Given the description of an element on the screen output the (x, y) to click on. 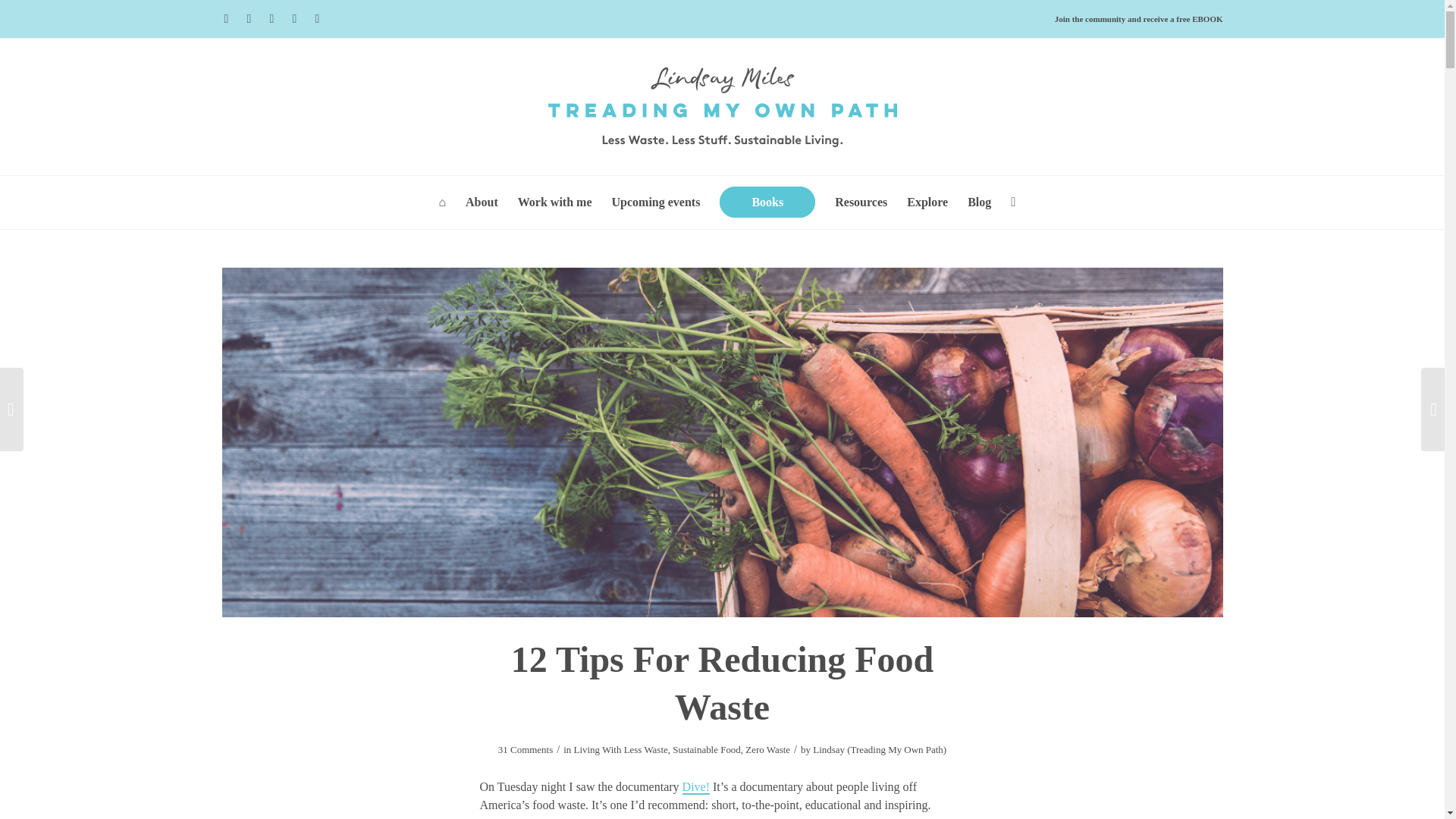
Work with me (555, 194)
Resources (860, 194)
X (226, 18)
Dive! (696, 787)
Mail (294, 18)
Treading My Own Path (722, 106)
Instagram (271, 18)
Upcoming events (656, 194)
Zero Waste (767, 749)
